Given the description of an element on the screen output the (x, y) to click on. 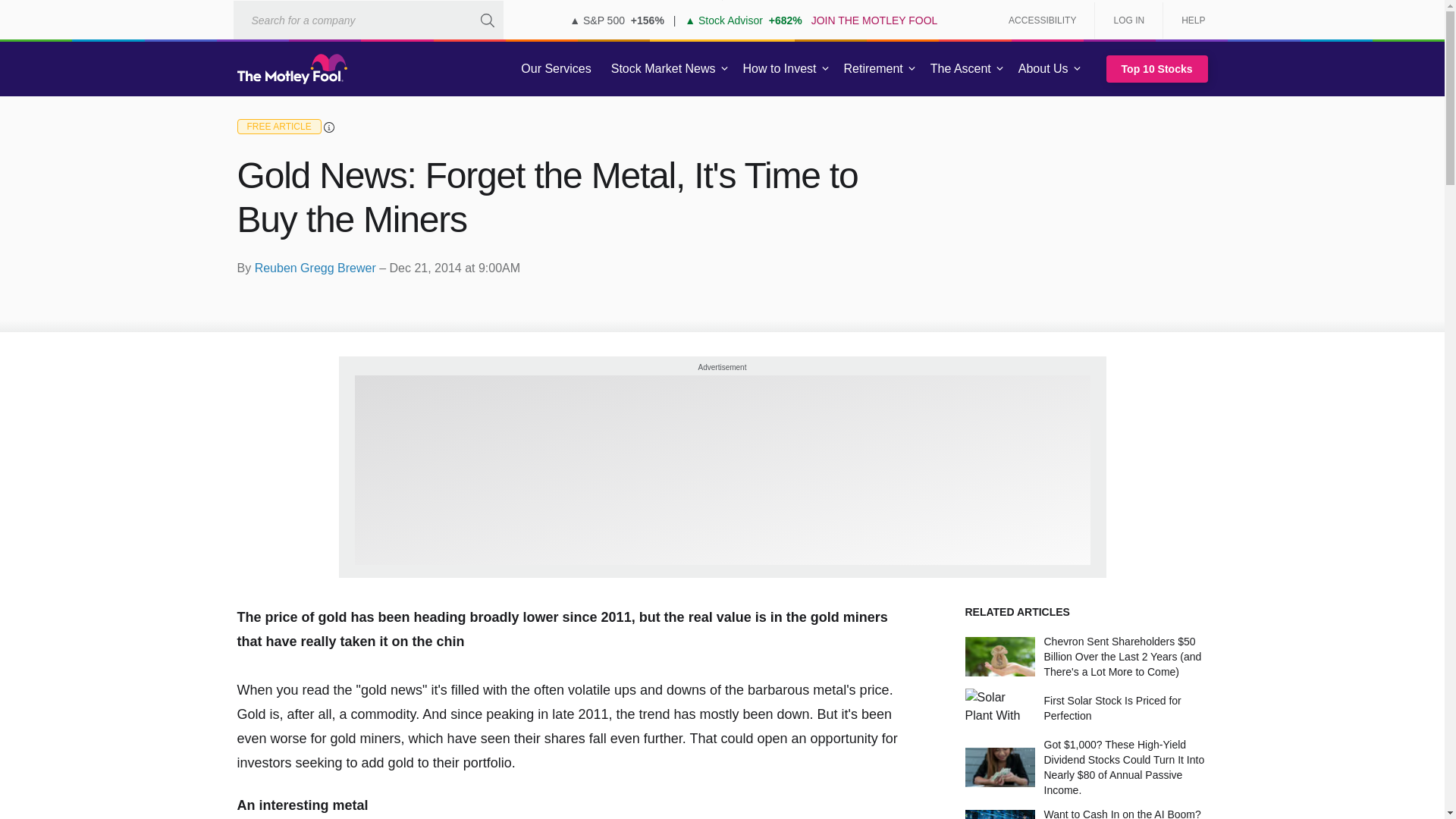
Stock Market News (662, 68)
HELP (1187, 19)
Our Services (555, 68)
ACCESSIBILITY (1042, 19)
LOG IN (1128, 19)
How to Invest (779, 68)
